Given the description of an element on the screen output the (x, y) to click on. 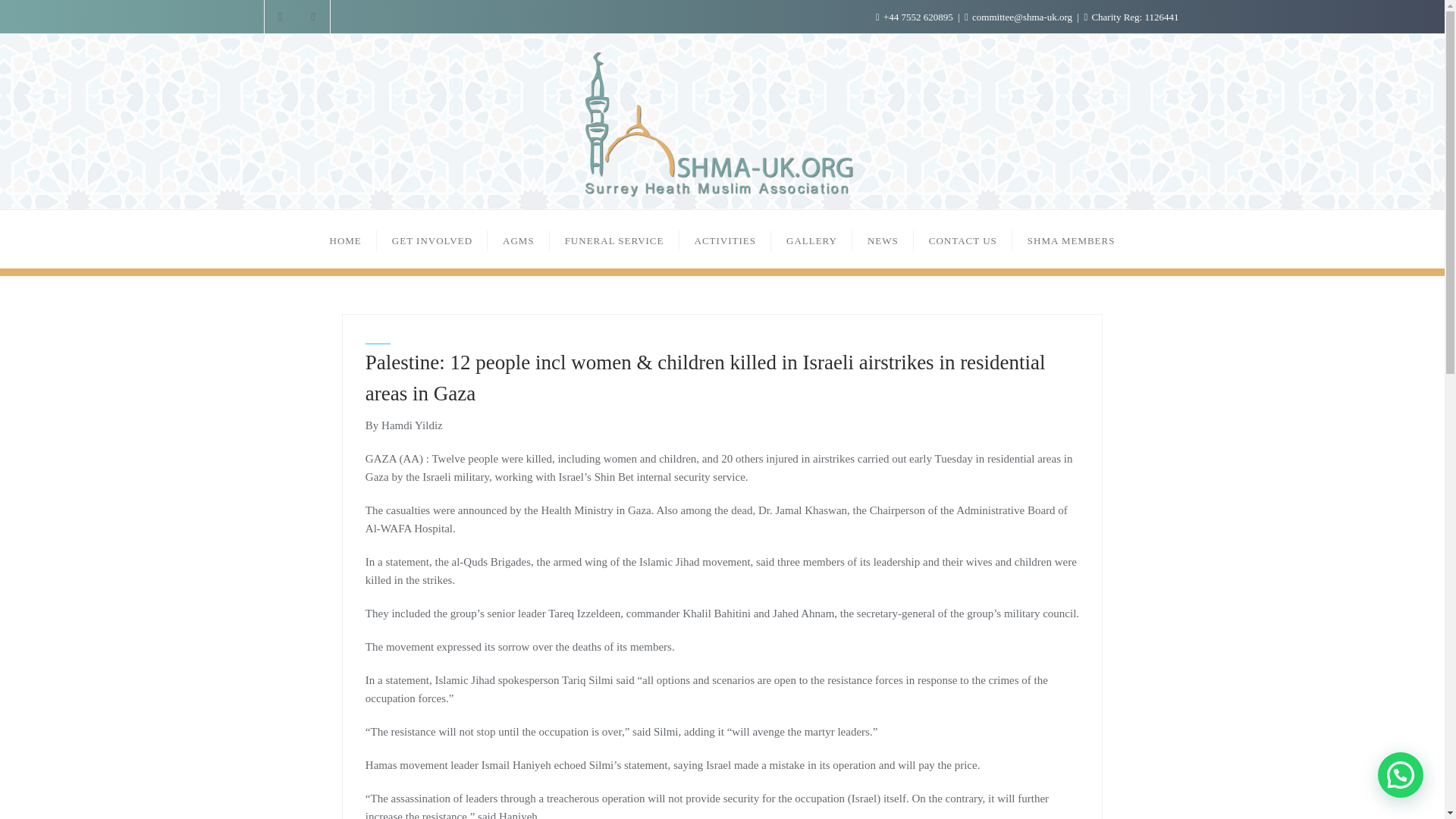
CONTACT US (962, 238)
GET INVOLVED (432, 238)
ACTIVITIES (725, 238)
HOME (345, 238)
GALLERY (811, 238)
Charity Reg: 1126441 (1130, 16)
NEWS (882, 238)
AGMS (518, 238)
SHMA MEMBERS (1071, 238)
FUNERAL SERVICE (614, 238)
